Given the description of an element on the screen output the (x, y) to click on. 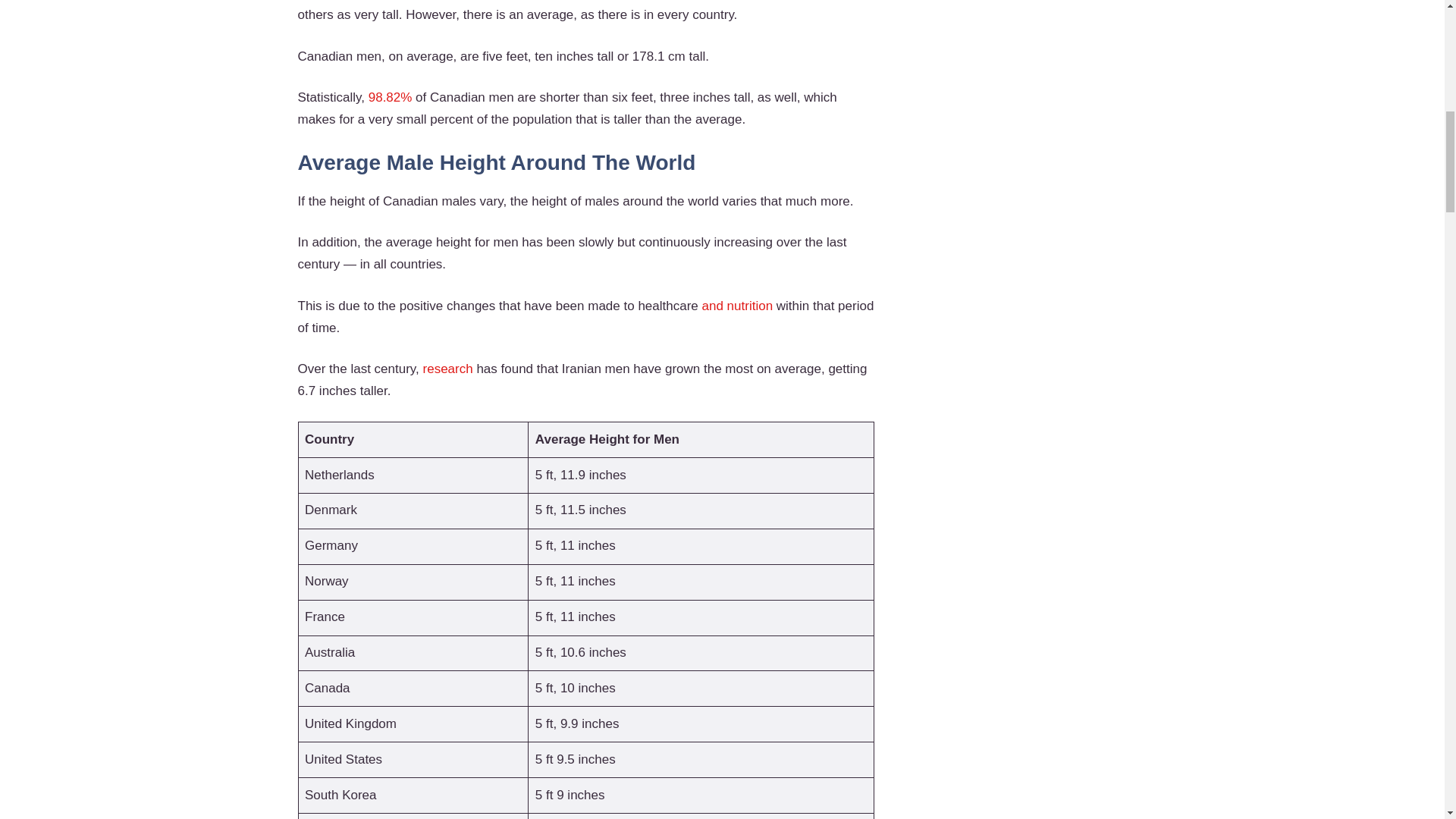
and nutrition (735, 305)
research (448, 368)
